Given the description of an element on the screen output the (x, y) to click on. 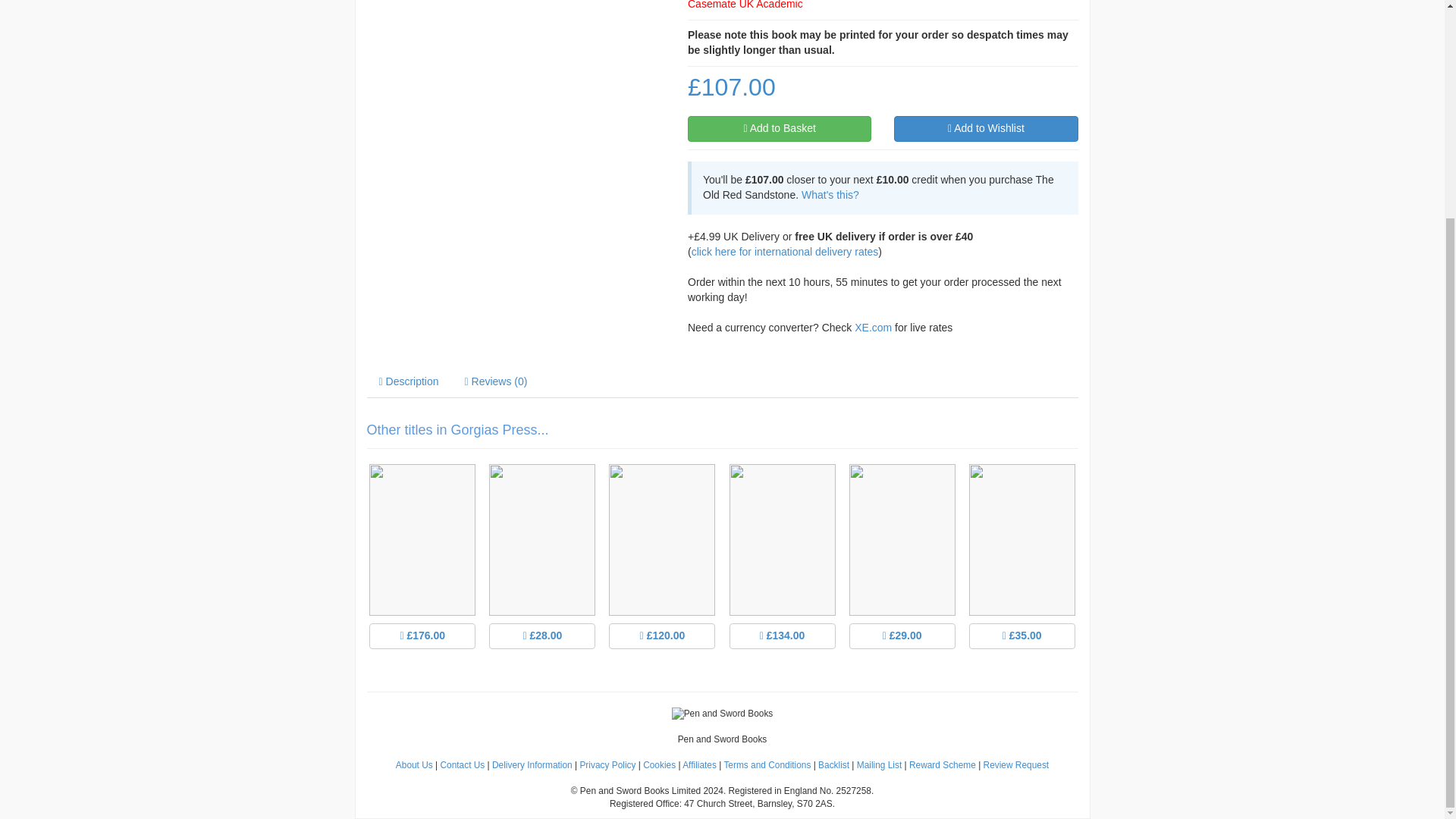
Drei nestorianische Kirchenlieder (541, 570)
The Sacred Books of Chaldea (1021, 570)
Was hat Mohammed aus dem Judenthume Aufgenommen? (781, 570)
Arabs and Ottomans (421, 570)
